Given the description of an element on the screen output the (x, y) to click on. 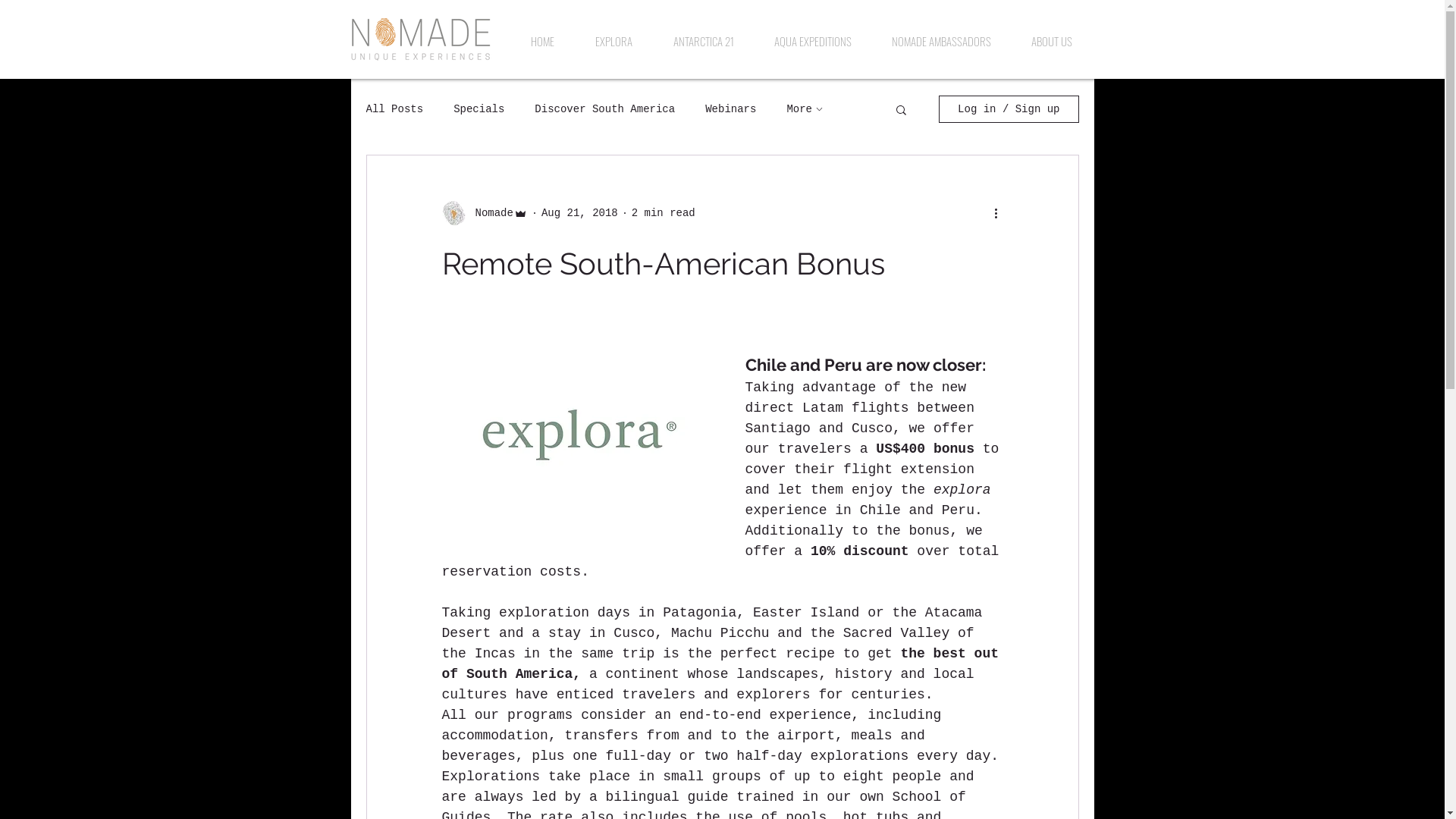
EXPLORA Element type: text (613, 40)
ABOUT US Element type: text (1051, 40)
ANTARCTICA 21 Element type: text (702, 40)
Webinars Element type: text (730, 109)
Specials Element type: text (478, 109)
AQUA EXPEDITIONS Element type: text (812, 40)
Log in / Sign up Element type: text (1008, 108)
NOMADE AMBASSADORS Element type: text (941, 40)
HOME Element type: text (541, 40)
Discover South America Element type: text (604, 109)
NOMADE Element type: hover (421, 39)
All Posts Element type: text (394, 109)
